Given the description of an element on the screen output the (x, y) to click on. 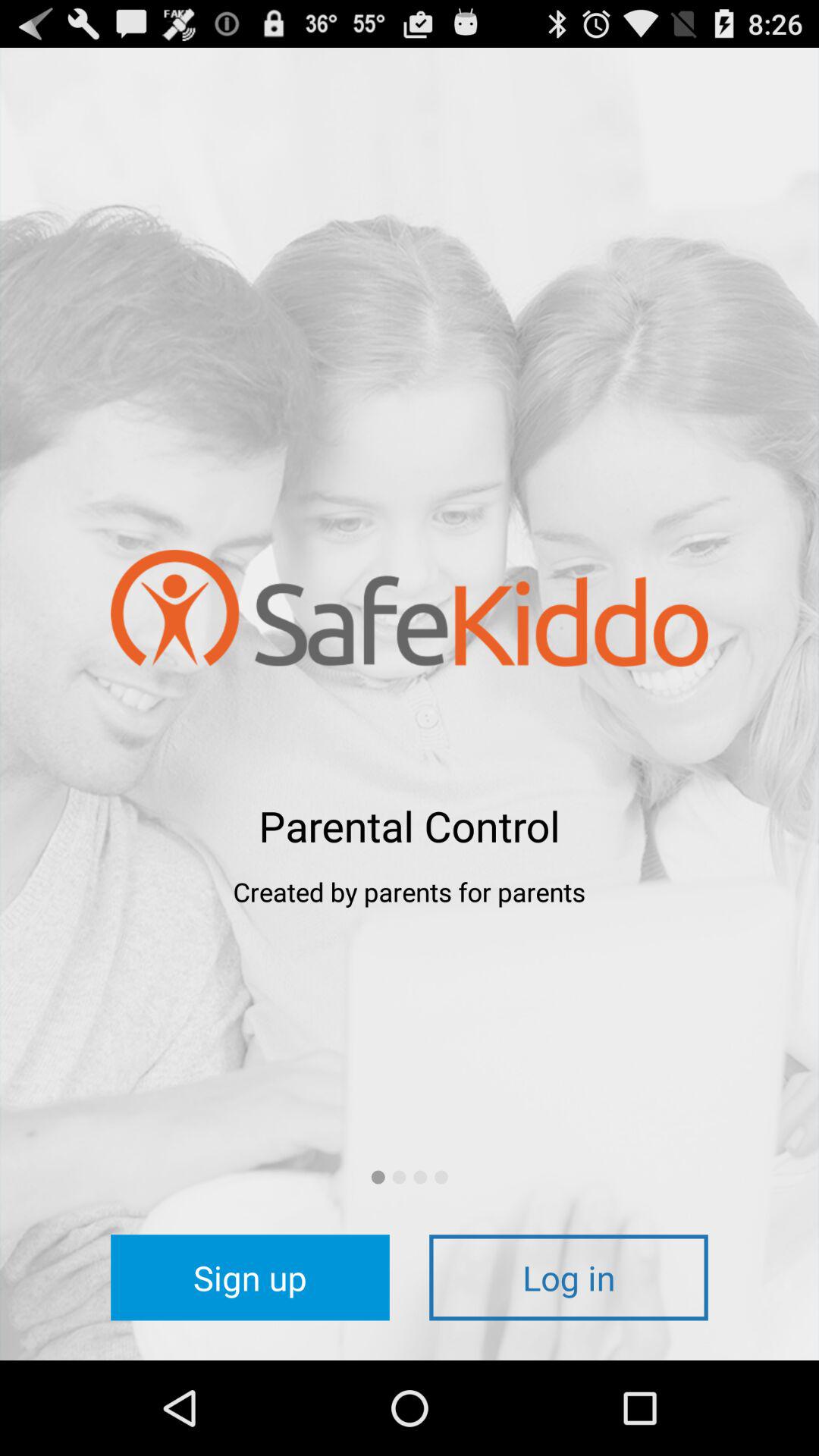
launch the item at the bottom right corner (568, 1277)
